Given the description of an element on the screen output the (x, y) to click on. 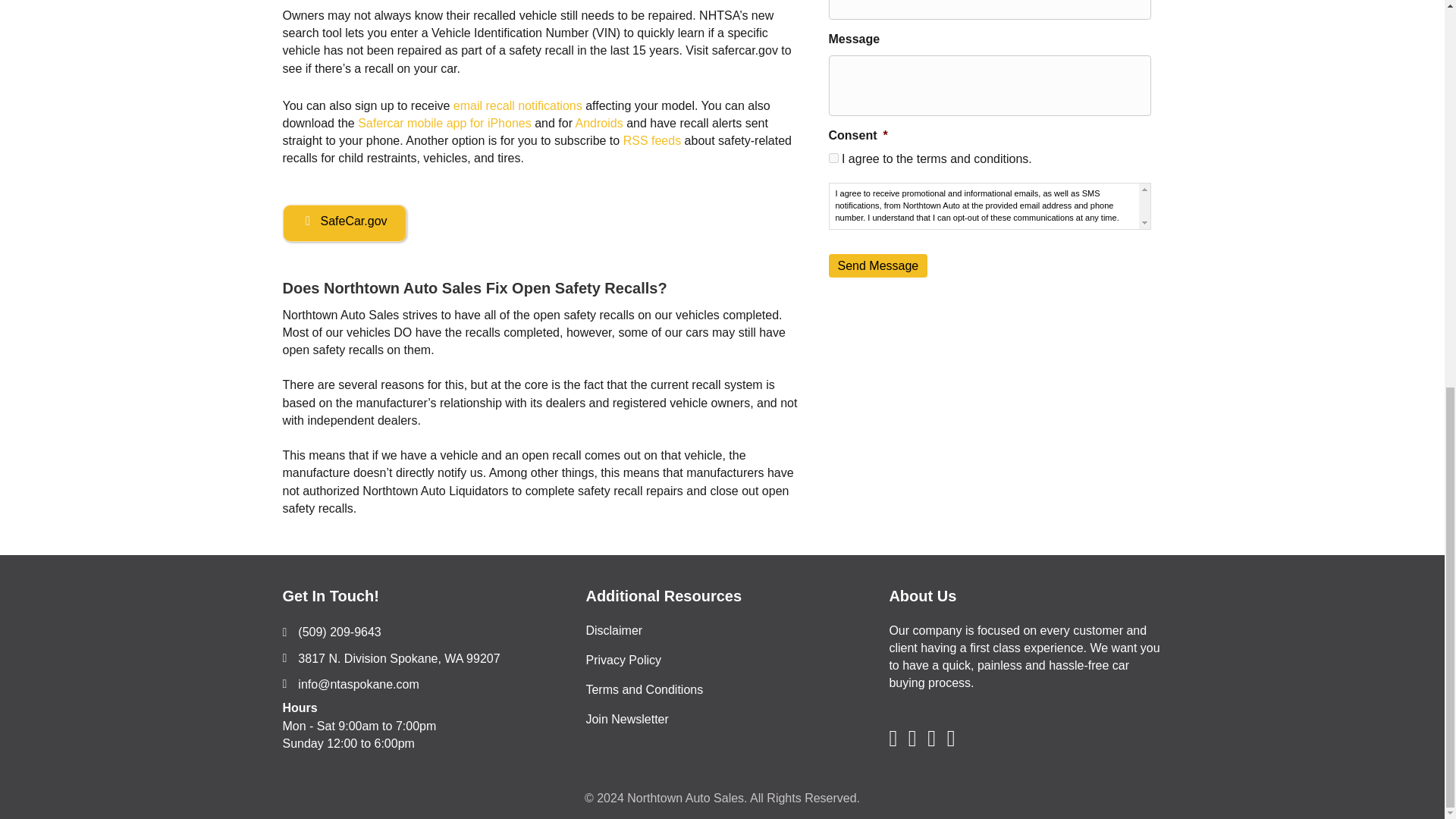
SafeCar.gov (344, 222)
1 (833, 157)
Androids (599, 123)
email recall notifications (517, 105)
Safercar mobile app for iPhones (444, 123)
RSS feeds (652, 140)
Send Message (877, 265)
